Given the description of an element on the screen output the (x, y) to click on. 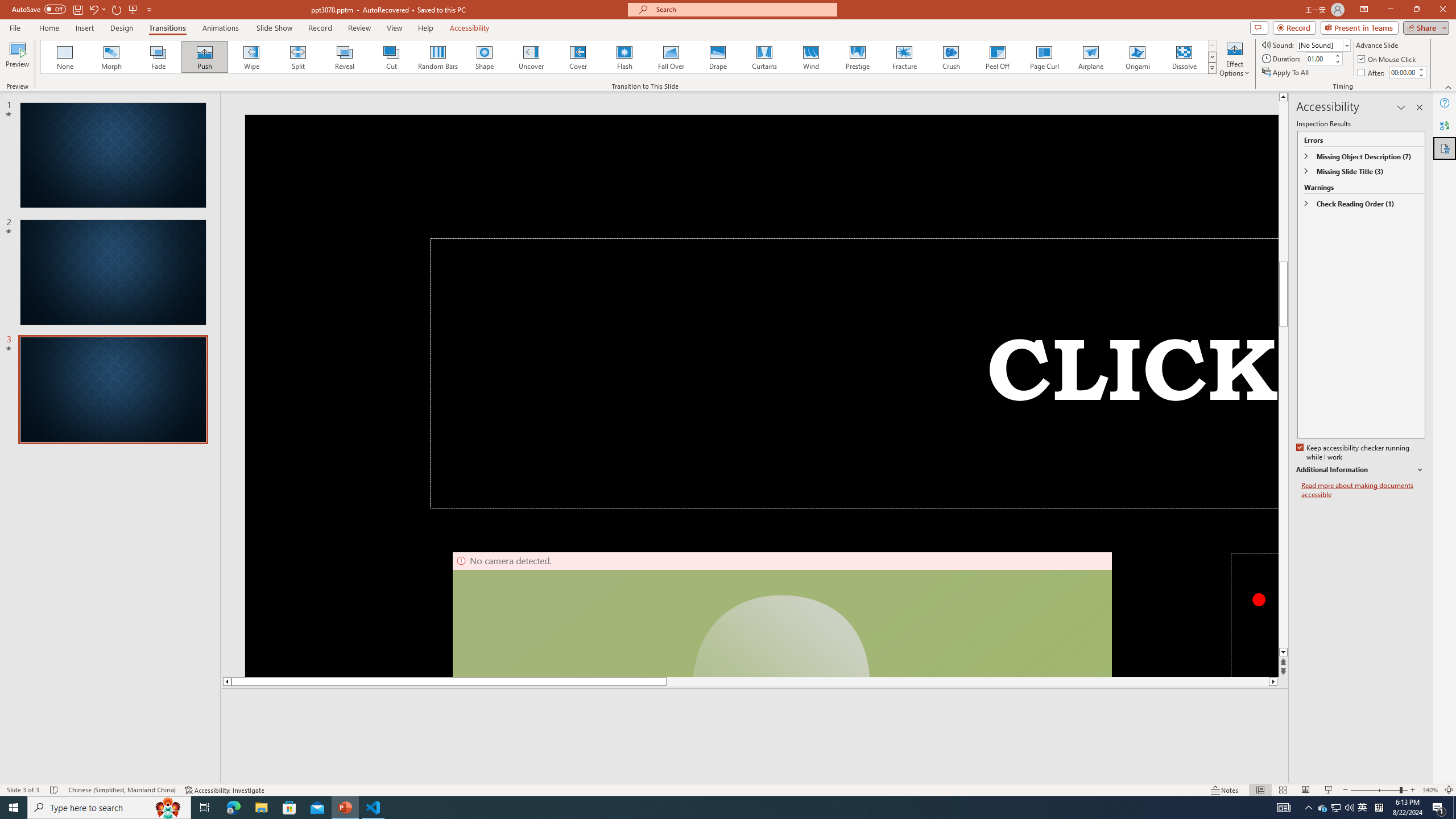
Zoom 340% (1430, 790)
Cover (577, 56)
Content Placeholder (1338, 289)
Dissolve (1183, 56)
Airplane (1090, 56)
Origami (1136, 56)
